Given the description of an element on the screen output the (x, y) to click on. 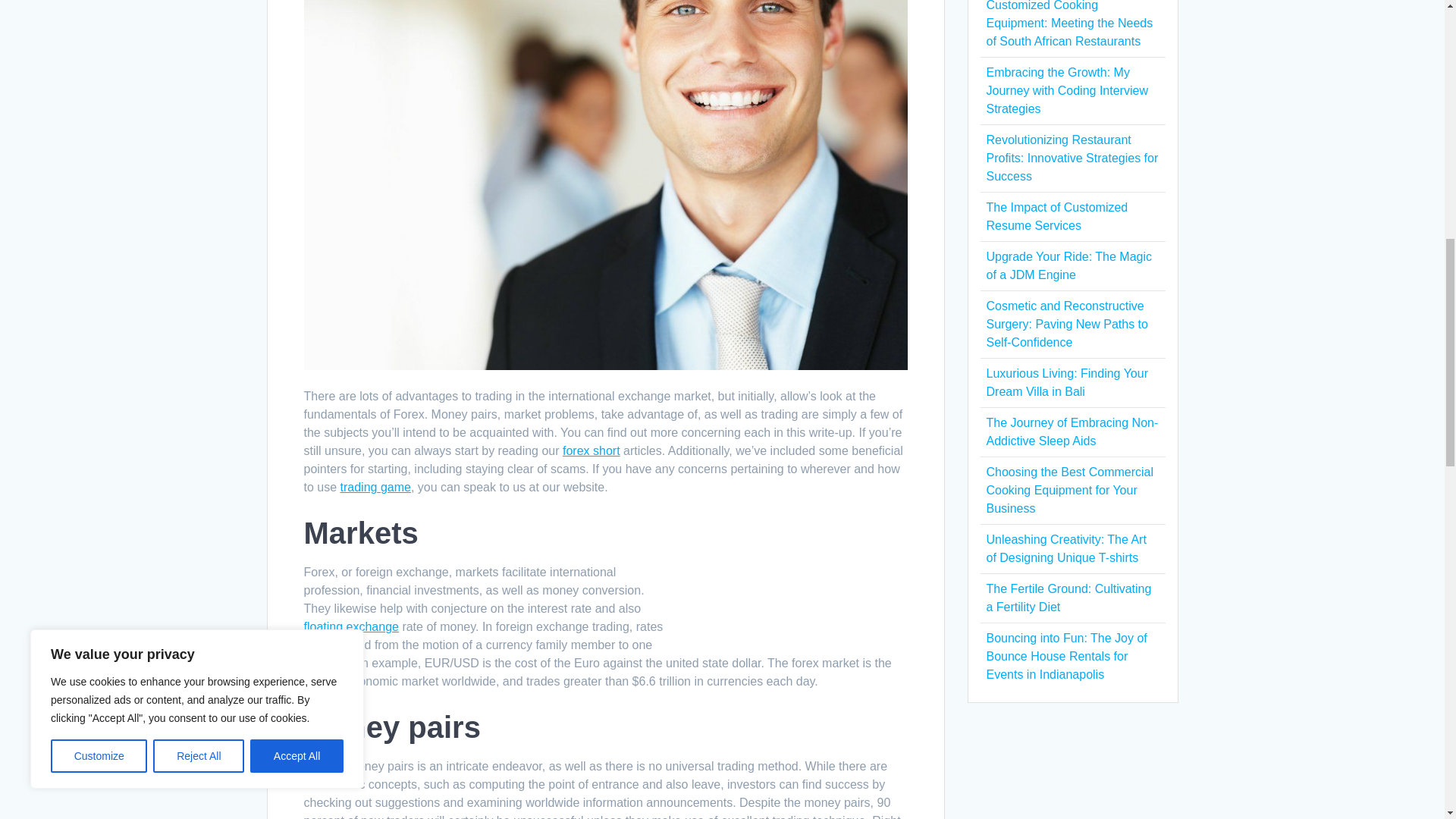
forex short (591, 450)
trading game (375, 486)
floating exchange (349, 626)
The Impact of Customized Resume Services (1055, 215)
